Given the description of an element on the screen output the (x, y) to click on. 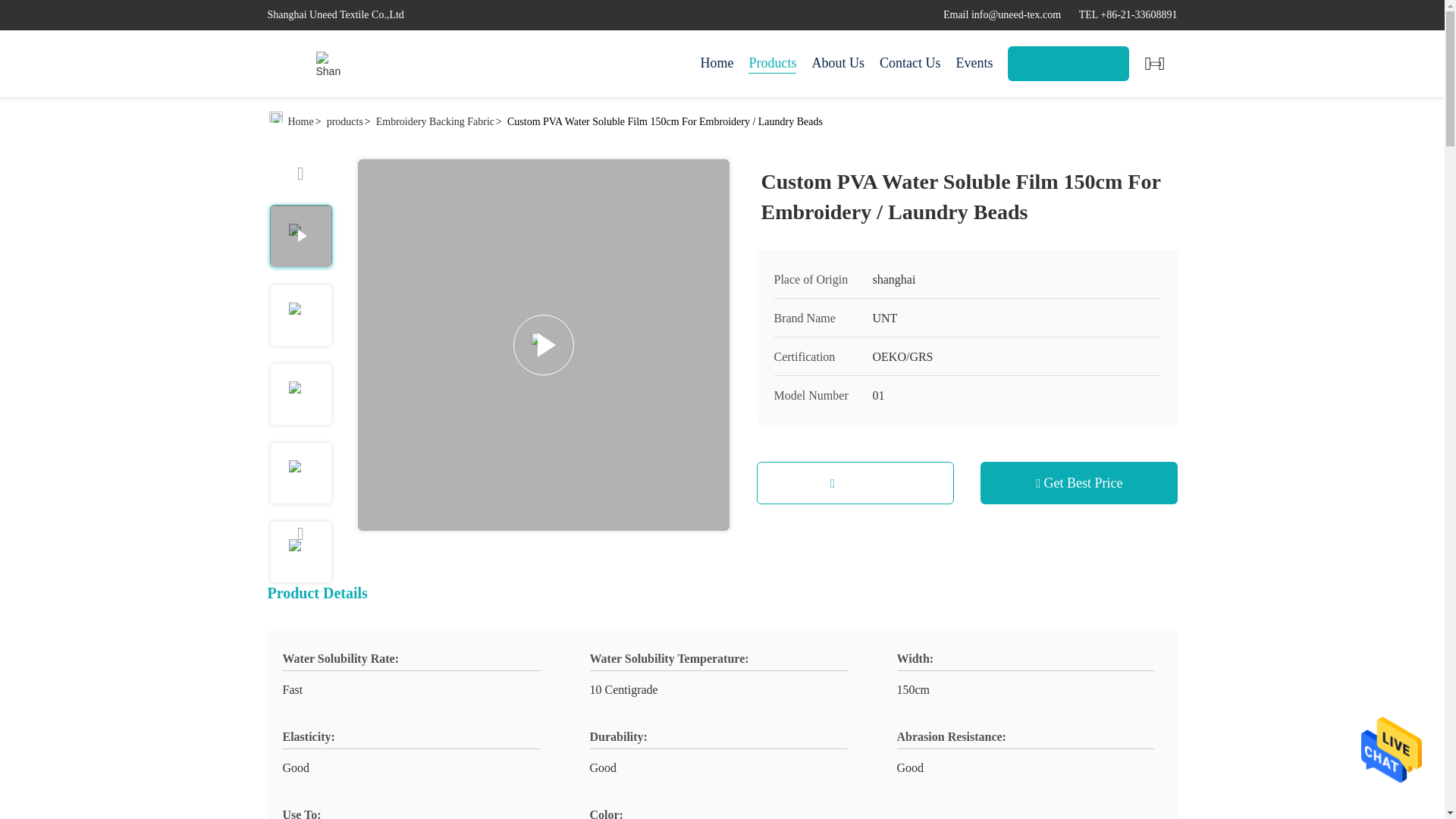
Events (973, 63)
Home (716, 63)
About Us (837, 63)
Request A Quote (1068, 63)
Products (772, 63)
Home (327, 63)
Email (1002, 14)
Contact Us (909, 63)
